Given the description of an element on the screen output the (x, y) to click on. 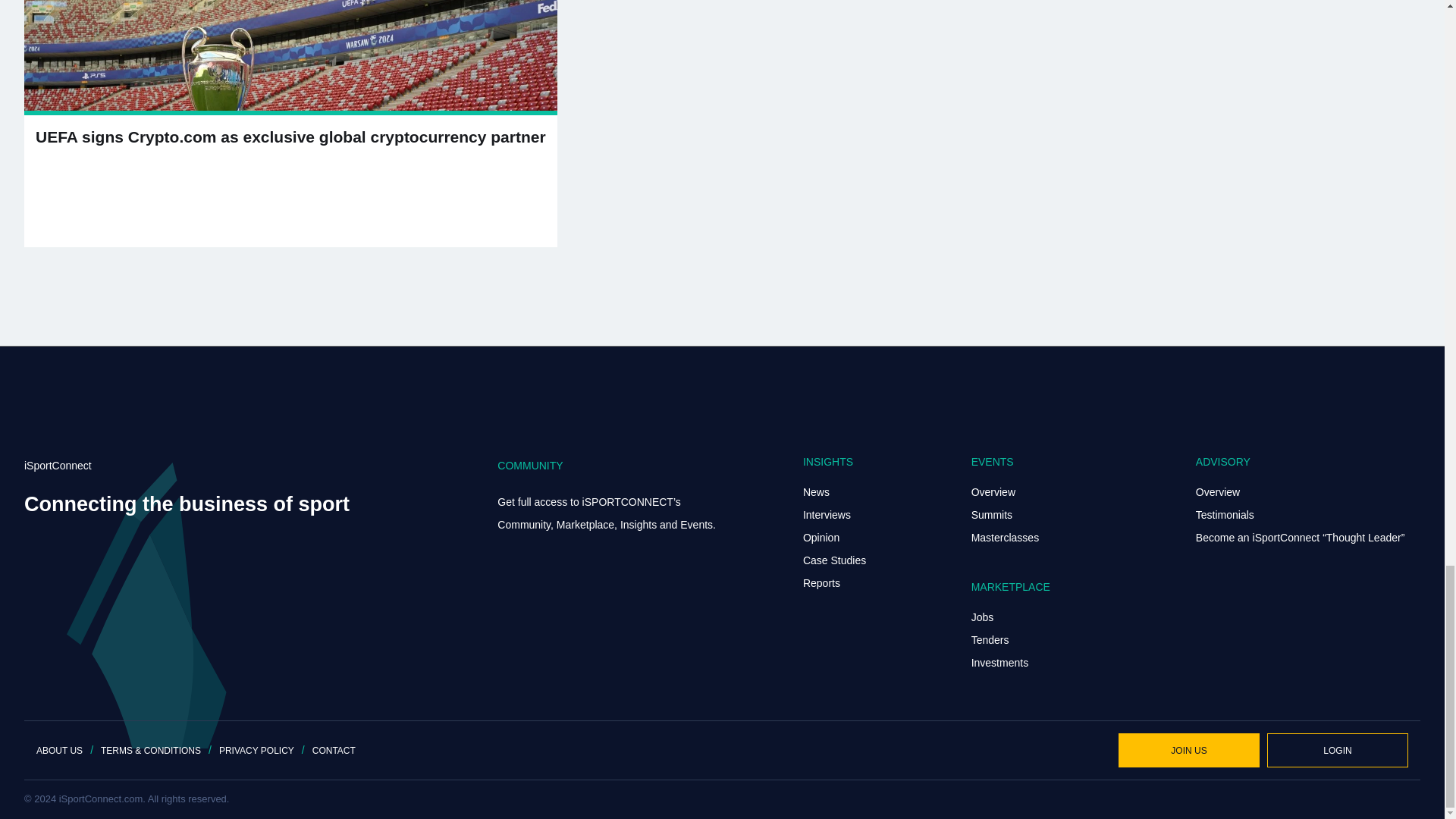
Interviews (826, 514)
News (816, 491)
INSIGHTS (828, 461)
